Given the description of an element on the screen output the (x, y) to click on. 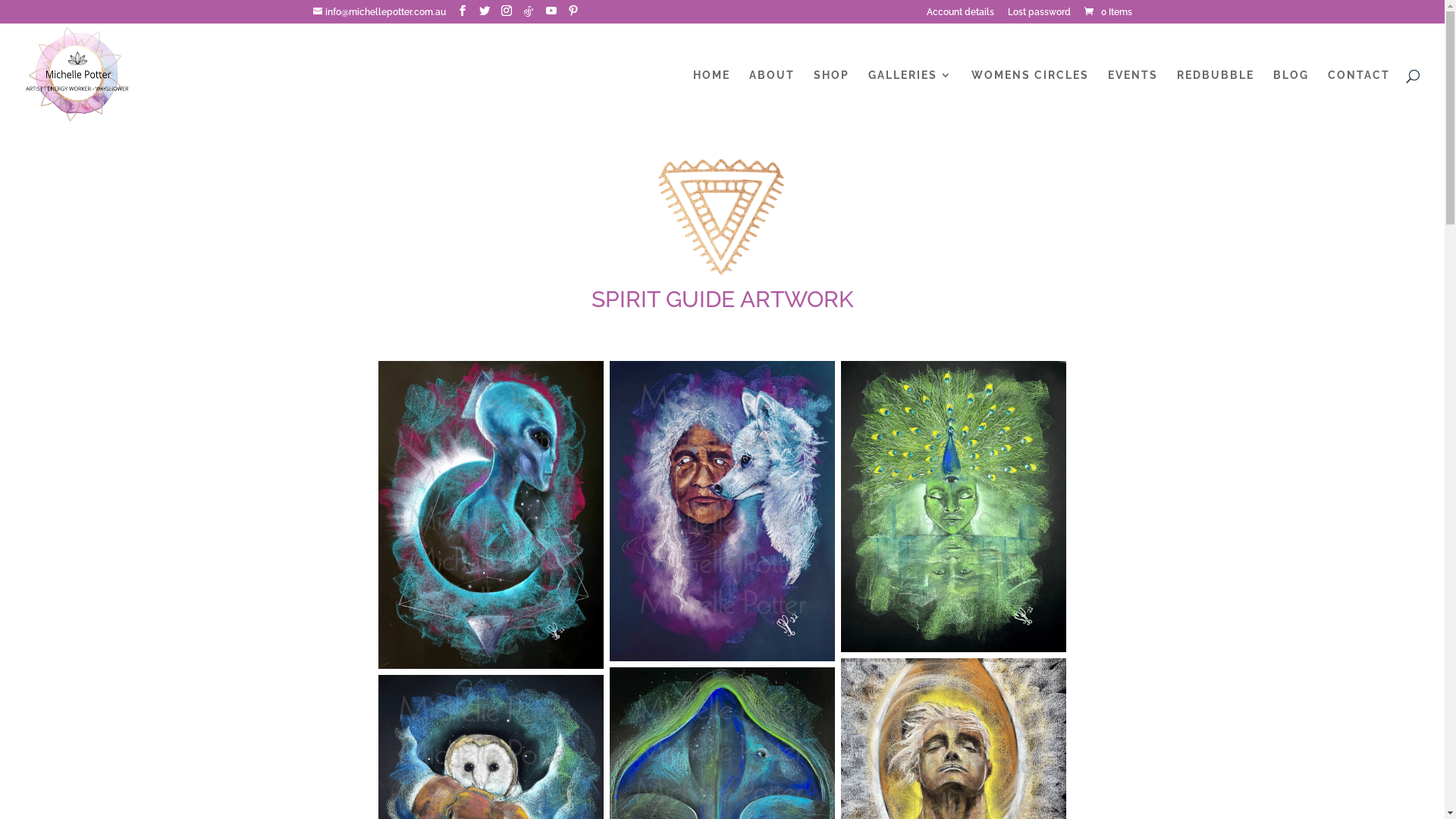
SHOP Element type: text (831, 97)
0 Items Element type: text (1106, 11)
REDBUBBLE Element type: text (1215, 97)
ABOUT Element type: text (771, 97)
Lost password Element type: text (1038, 15)
HOME Element type: text (711, 97)
WOMENS CIRCLES Element type: text (1029, 97)
EVENTS Element type: text (1132, 97)
Account details Element type: text (960, 15)
CONTACT Element type: text (1358, 97)
GALLERIES Element type: text (910, 97)
BLOG Element type: text (1290, 97)
info@michellepotter.com.au Element type: text (378, 11)
